Given the description of an element on the screen output the (x, y) to click on. 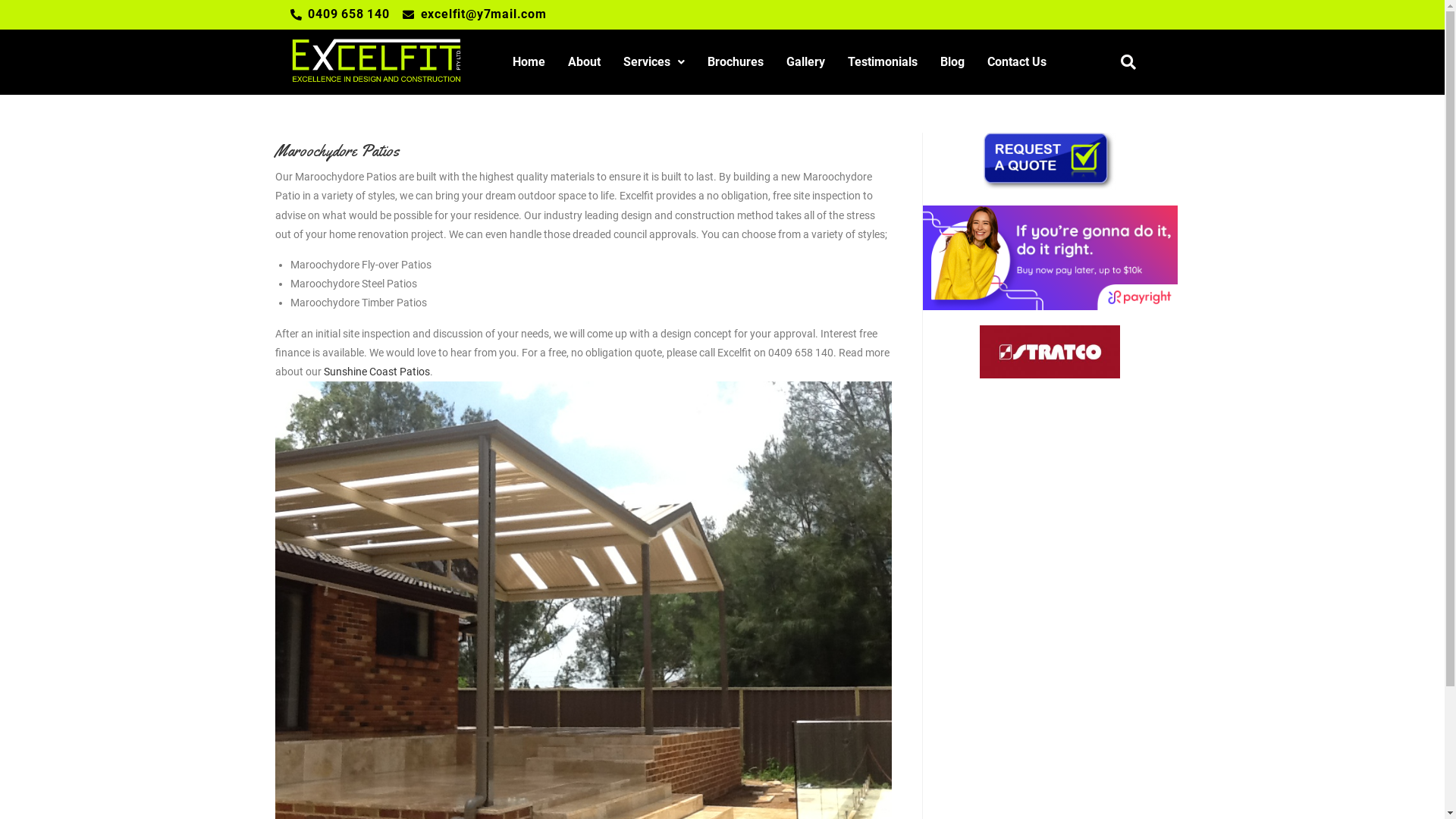
Search Element type: hover (1124, 62)
Contact Us Element type: text (1016, 61)
About Element type: text (583, 61)
Home Element type: text (528, 61)
Gallery Element type: text (805, 61)
Testimonials Element type: text (882, 61)
Brochures Element type: text (735, 61)
Blog Element type: text (951, 61)
Sunshine Coast Patios Element type: text (376, 371)
Services Element type: text (653, 61)
